Given the description of an element on the screen output the (x, y) to click on. 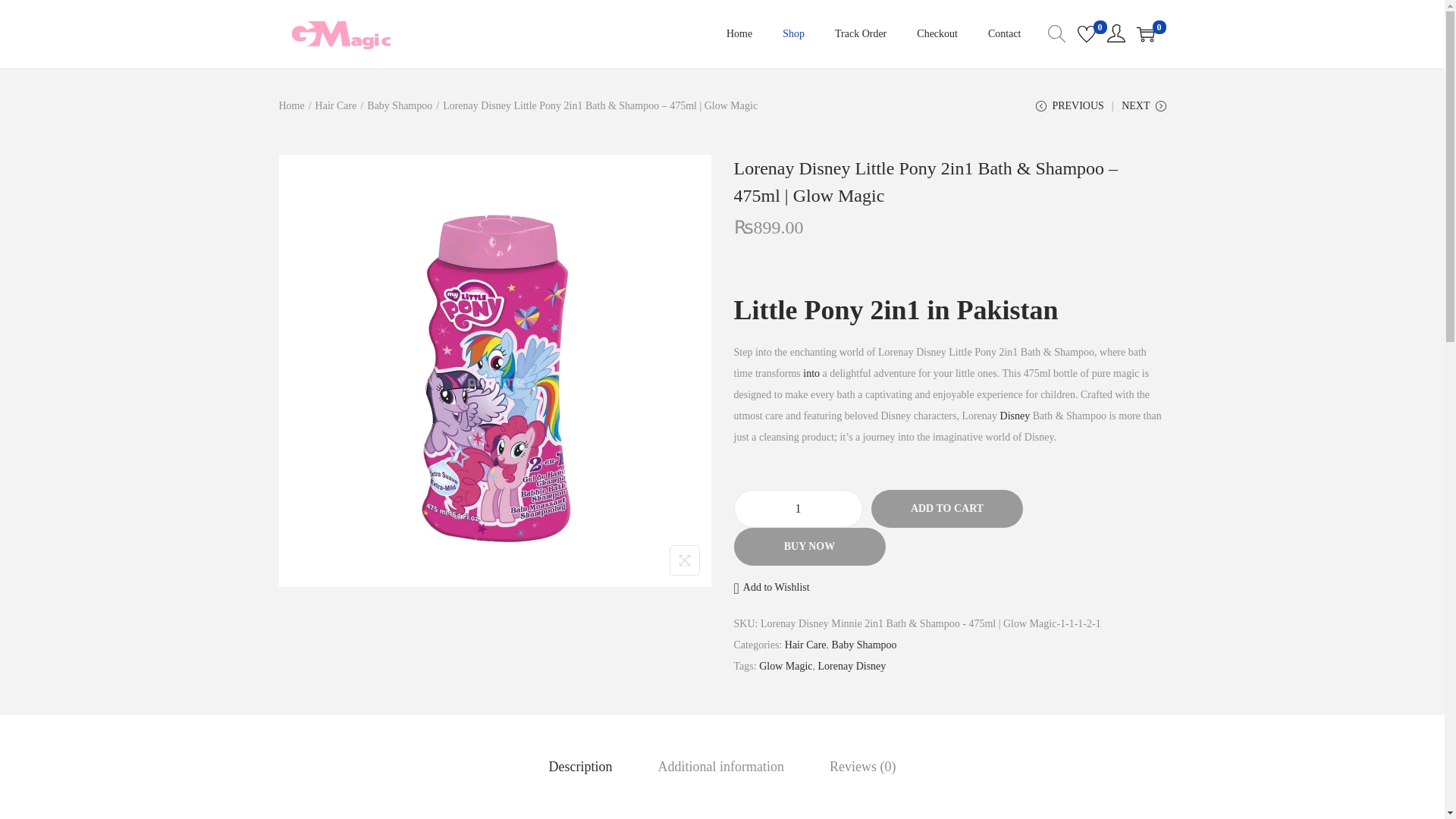
PREVIOUS (1069, 111)
1 (797, 508)
Description (580, 766)
0 (1144, 34)
Disney (1015, 415)
Add to Wishlist (771, 587)
BUY NOW (809, 546)
Hair Care (805, 644)
Baby Shampoo (399, 105)
into (811, 373)
Home (291, 105)
Baby Shampoo (863, 644)
Lorenay Disney (852, 665)
NEXT (1143, 111)
